Given the description of an element on the screen output the (x, y) to click on. 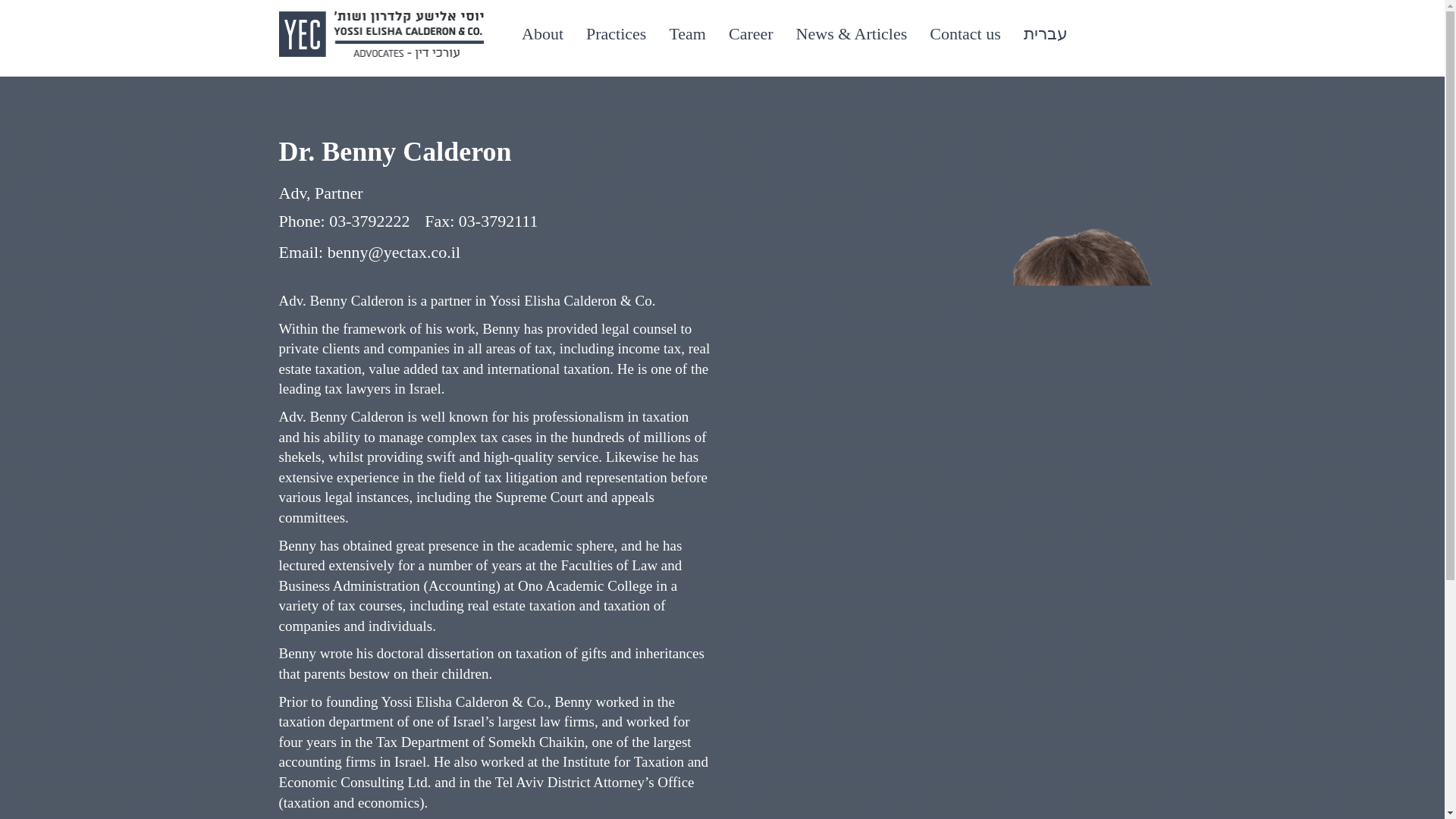
Career (751, 33)
Contact us (965, 33)
Team (687, 33)
About (542, 33)
Practices (616, 33)
